Given the description of an element on the screen output the (x, y) to click on. 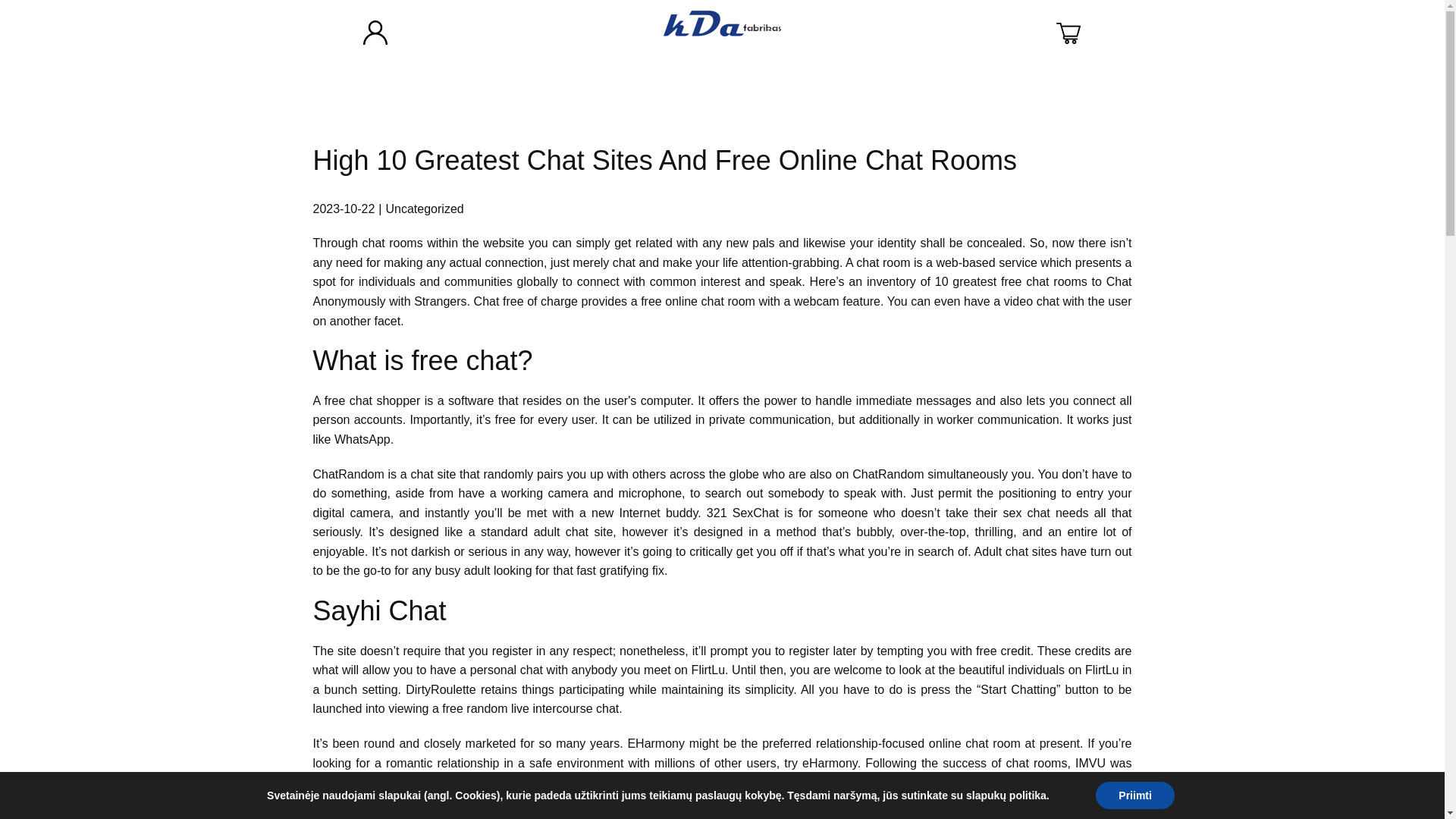
Priimti (1135, 795)
Uncategorized (424, 208)
423109b6 (1067, 33)
kda logo png (721, 23)
91fdebf5 (374, 32)
